Given the description of an element on the screen output the (x, y) to click on. 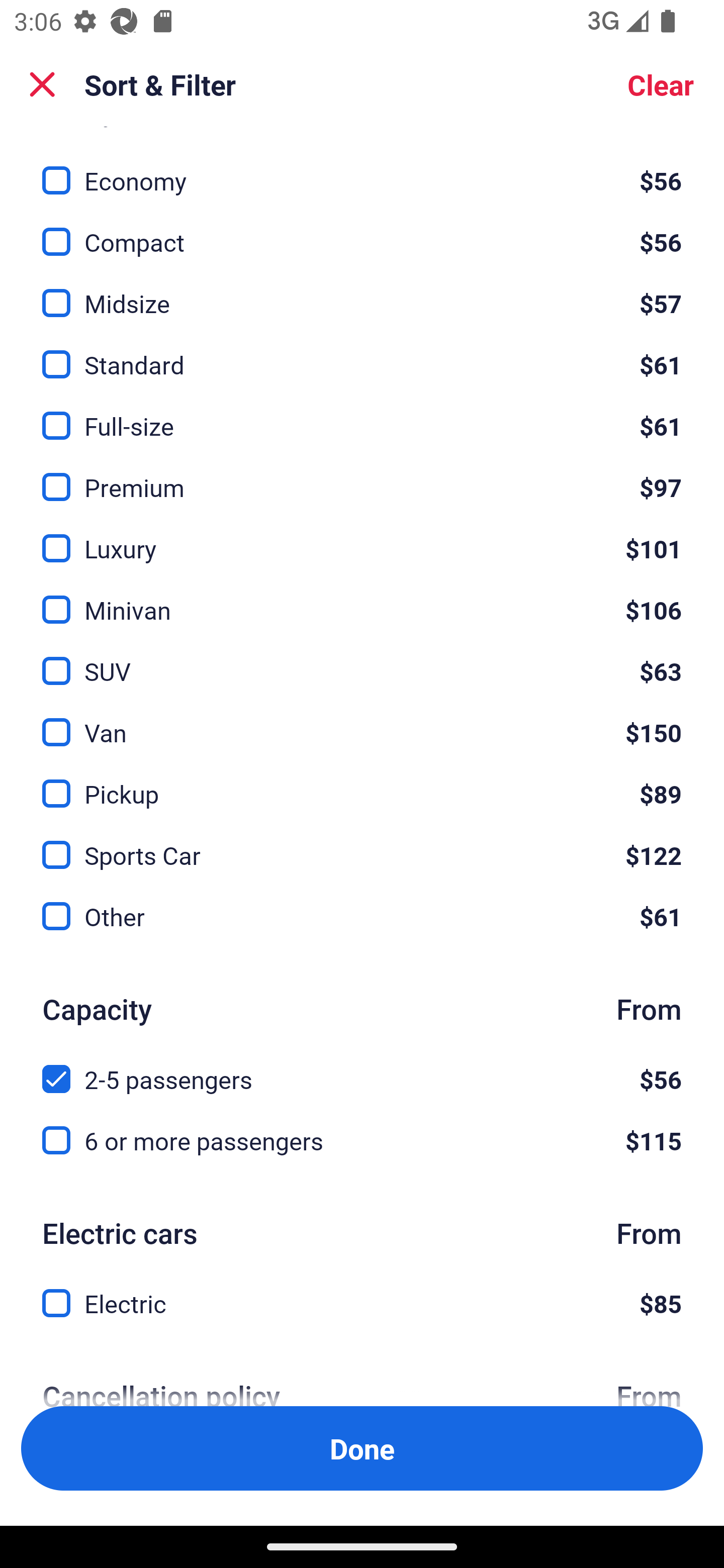
Close Sort and Filter (42, 84)
Clear (660, 84)
Economy, $56 Economy $56 (361, 168)
Compact, $56 Compact $56 (361, 230)
Midsize, $57 Midsize $57 (361, 292)
Standard, $61 Standard $61 (361, 353)
Full-size, $61 Full-size $61 (361, 414)
Premium, $97 Premium $97 (361, 475)
Luxury, $101 Luxury $101 (361, 536)
Minivan, $106 Minivan $106 (361, 597)
SUV, $63 SUV $63 (361, 658)
Van, $150 Van $150 (361, 720)
Pickup, $89 Pickup $89 (361, 782)
Sports Car, $122 Sports Car $122 (361, 843)
Other, $61 Other $61 (361, 916)
2-5 passengers, $56 2-5 passengers $56 (361, 1068)
Electric, $85 Electric $85 (361, 1302)
Apply and close Sort and Filter Done (361, 1448)
